Given the description of an element on the screen output the (x, y) to click on. 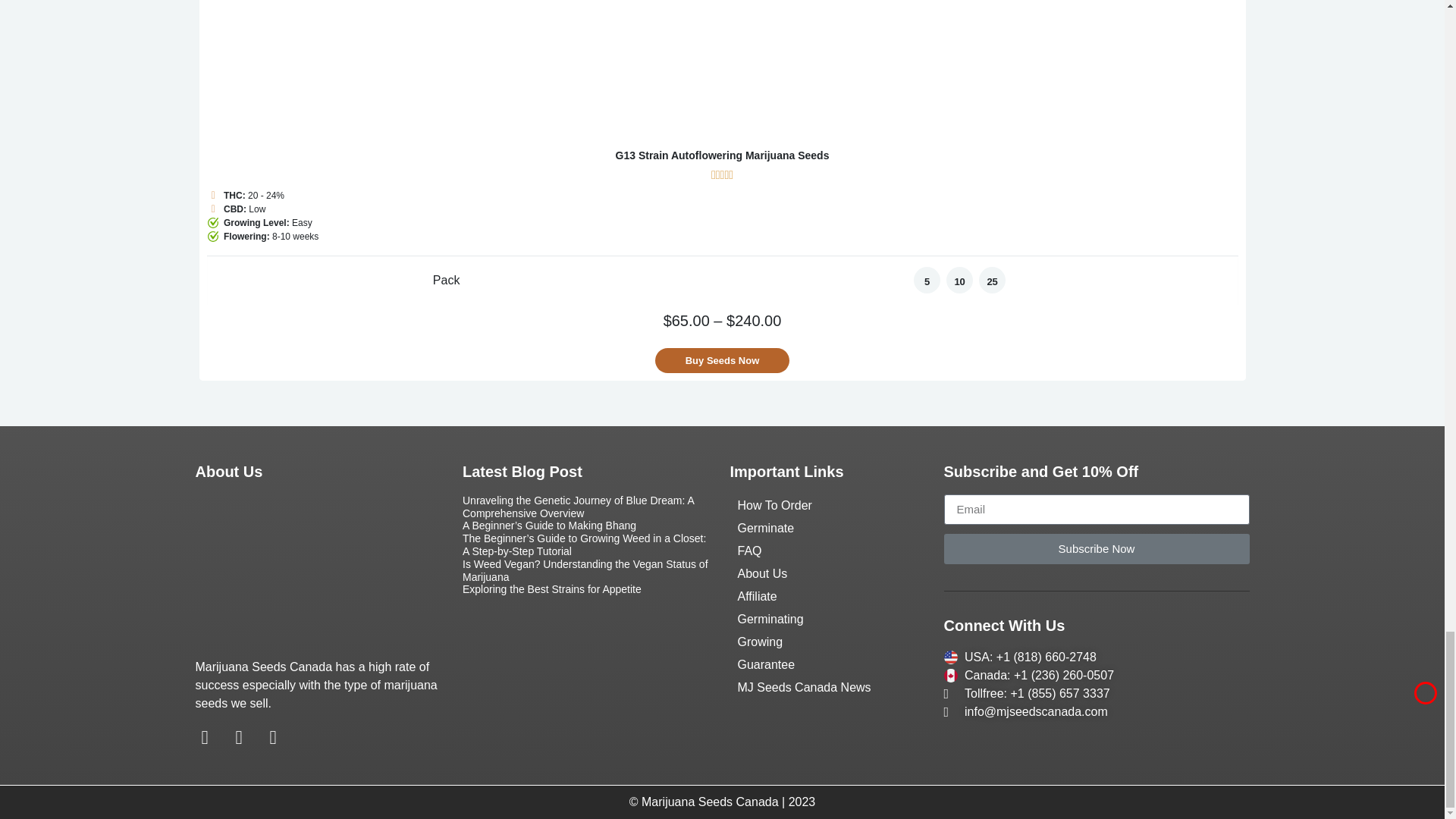
G13 Strain Autoflowering Marijuana Seeds (721, 72)
